Given the description of an element on the screen output the (x, y) to click on. 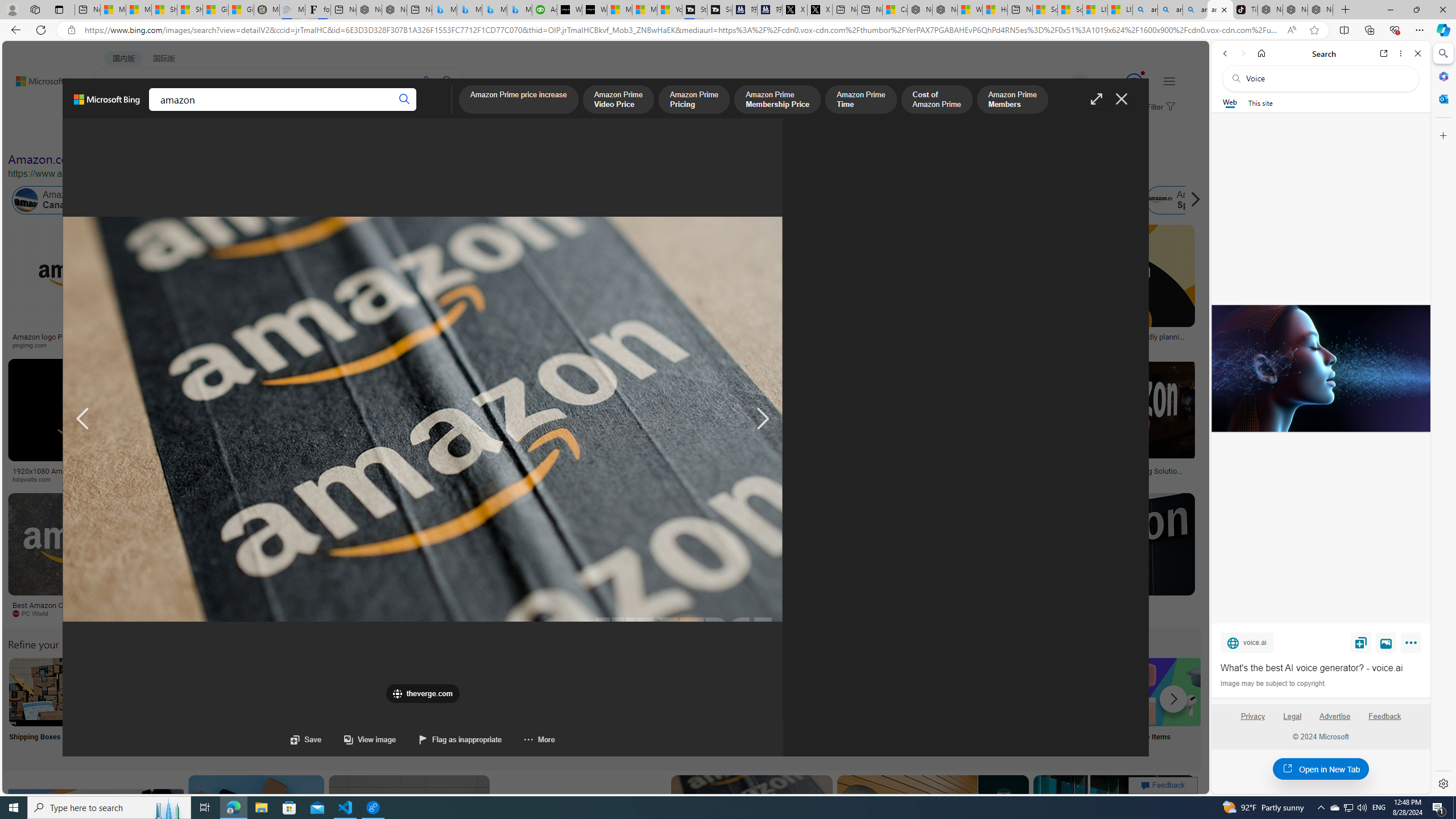
Amazon Online Shopping Homepage Online Shopping Homepage (868, 706)
usatoday.com (334, 344)
Settings and quick links (1168, 80)
ACADEMIC (311, 111)
What's the best AI voice generator? - voice.ai (593, 9)
Customize (1442, 135)
Online Store (644, 706)
DICT (357, 111)
Address and search bar (680, 29)
Amazon Prime Online (137, 200)
